Given the description of an element on the screen output the (x, y) to click on. 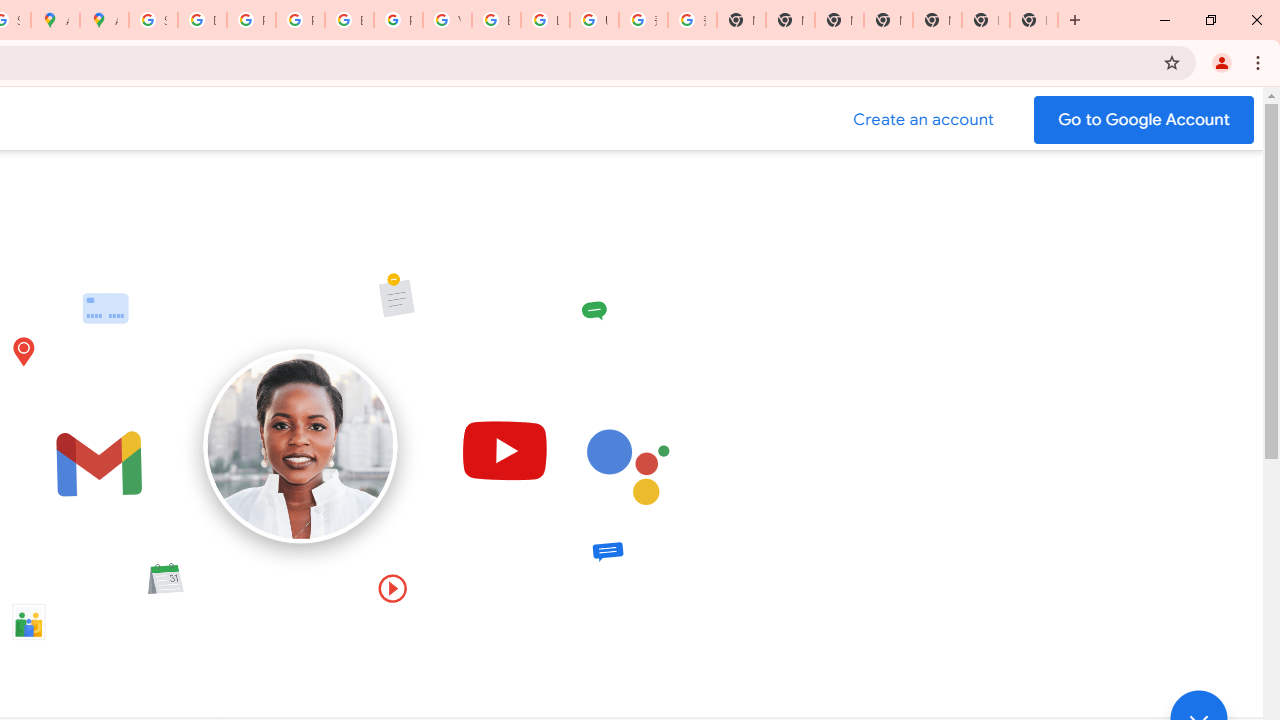
Privacy Help Center - Policies Help (300, 20)
YouTube (447, 20)
New Tab (888, 20)
New Tab (985, 20)
